Given the description of an element on the screen output the (x, y) to click on. 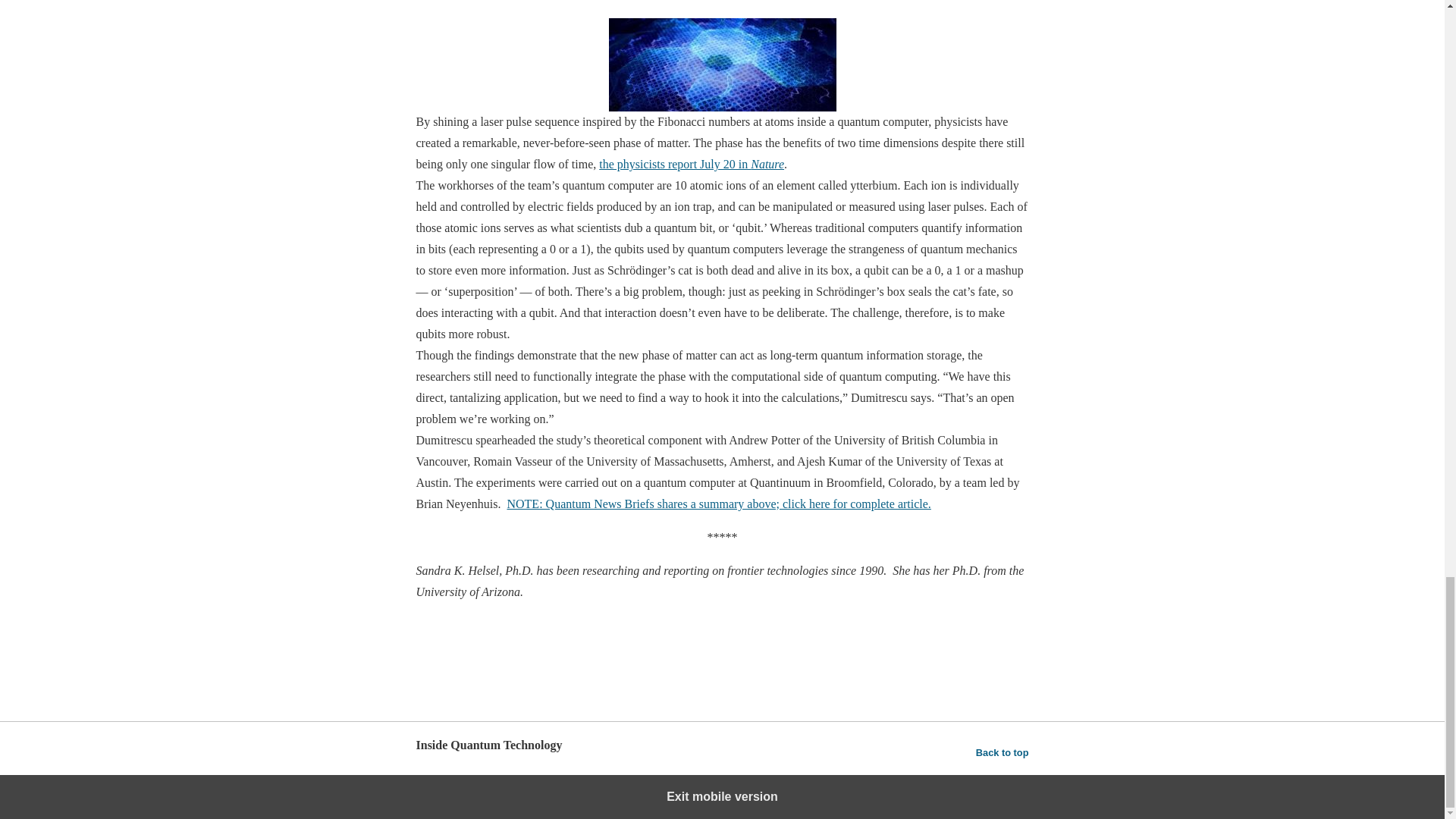
the physicists report July 20 in Nature (691, 164)
Back to top (1002, 752)
